Given the description of an element on the screen output the (x, y) to click on. 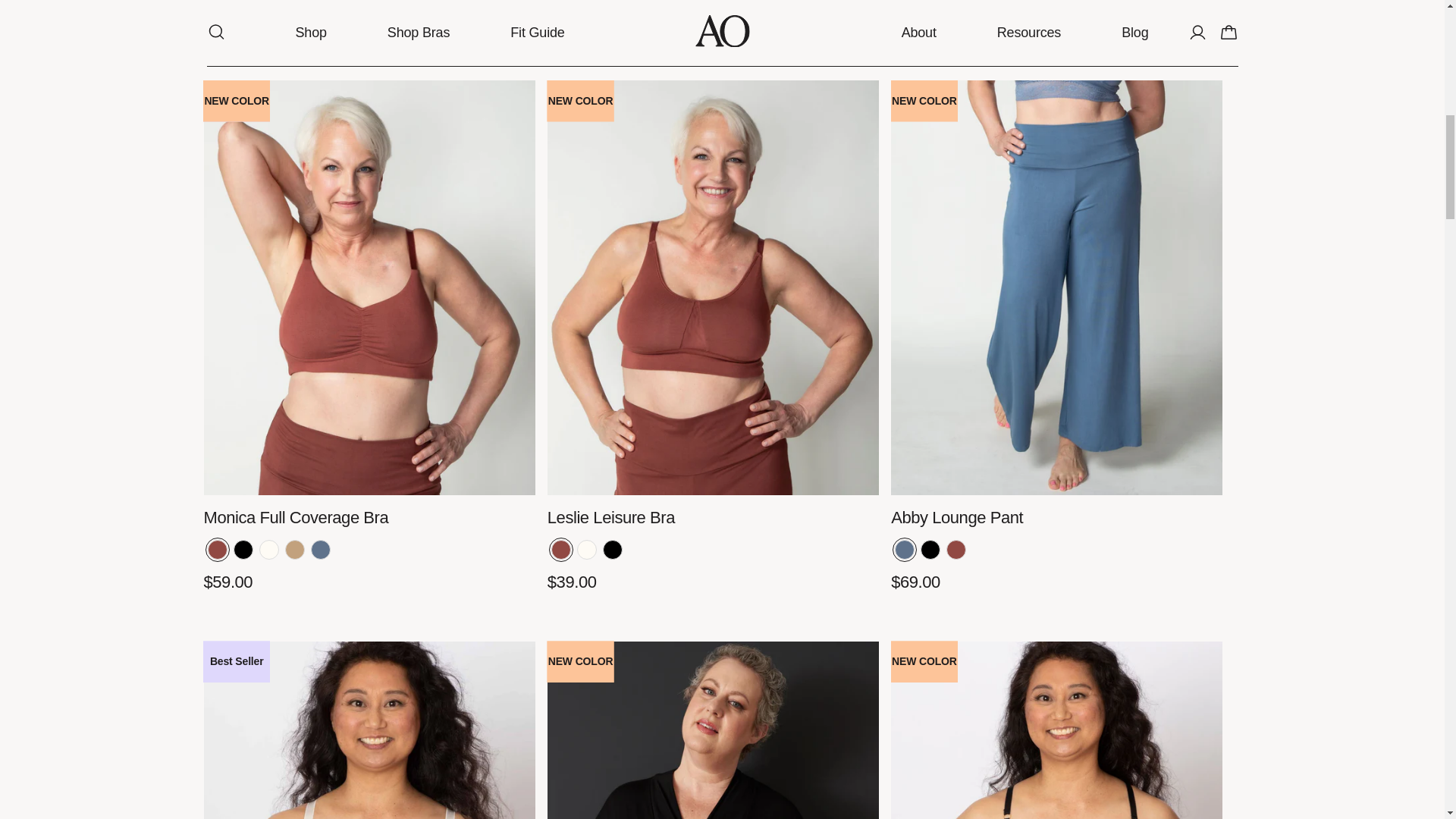
Cecile Modal Cami (1057, 730)
Trish Molded Cup Bra (368, 730)
Miena Robe (713, 730)
